Given the description of an element on the screen output the (x, y) to click on. 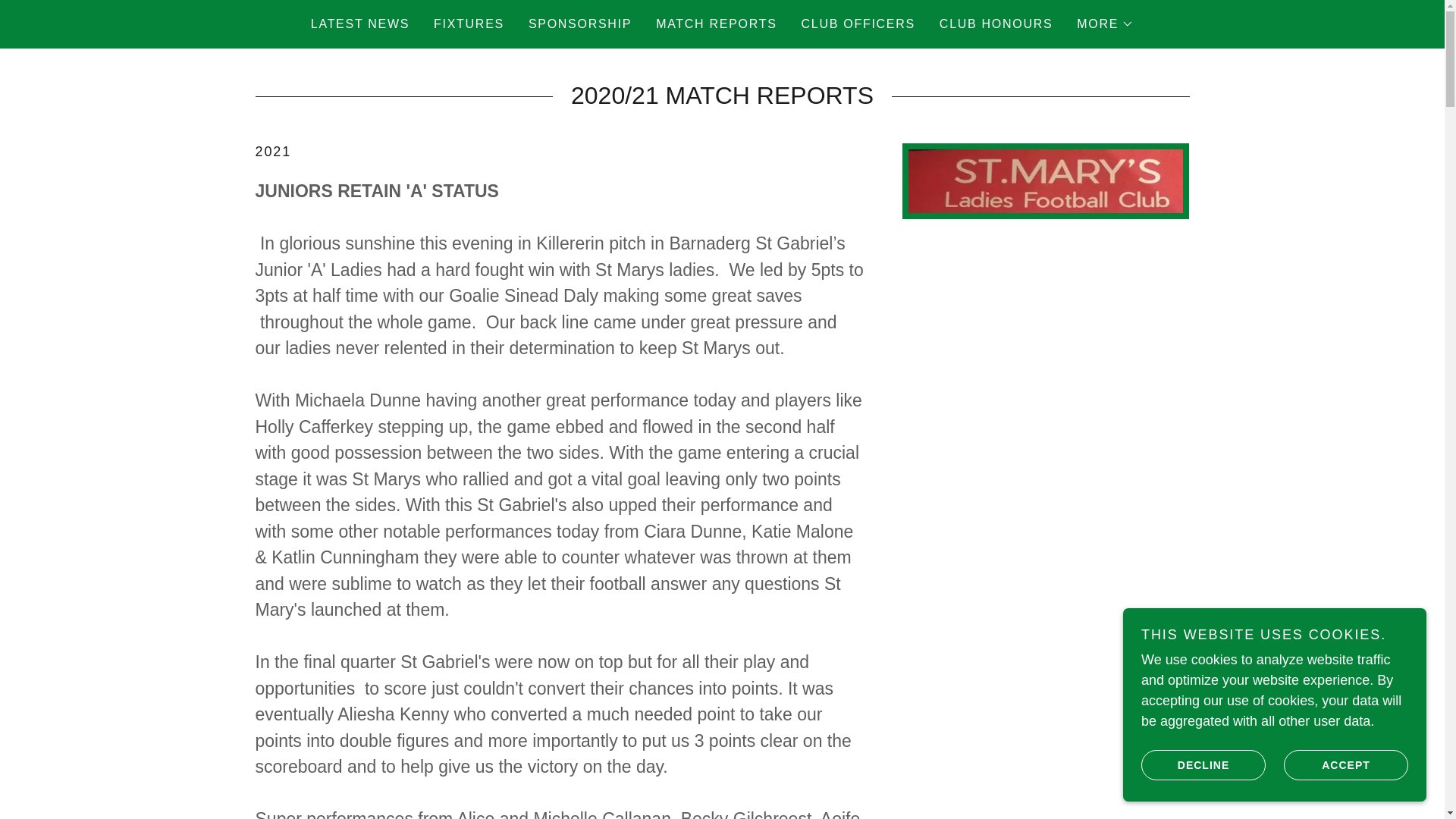
MATCH REPORTS (715, 23)
CLUB OFFICERS (858, 23)
MORE (1105, 24)
CLUB HONOURS (995, 23)
FIXTURES (468, 23)
LATEST NEWS (359, 23)
SPONSORSHIP (580, 23)
